Given the description of an element on the screen output the (x, y) to click on. 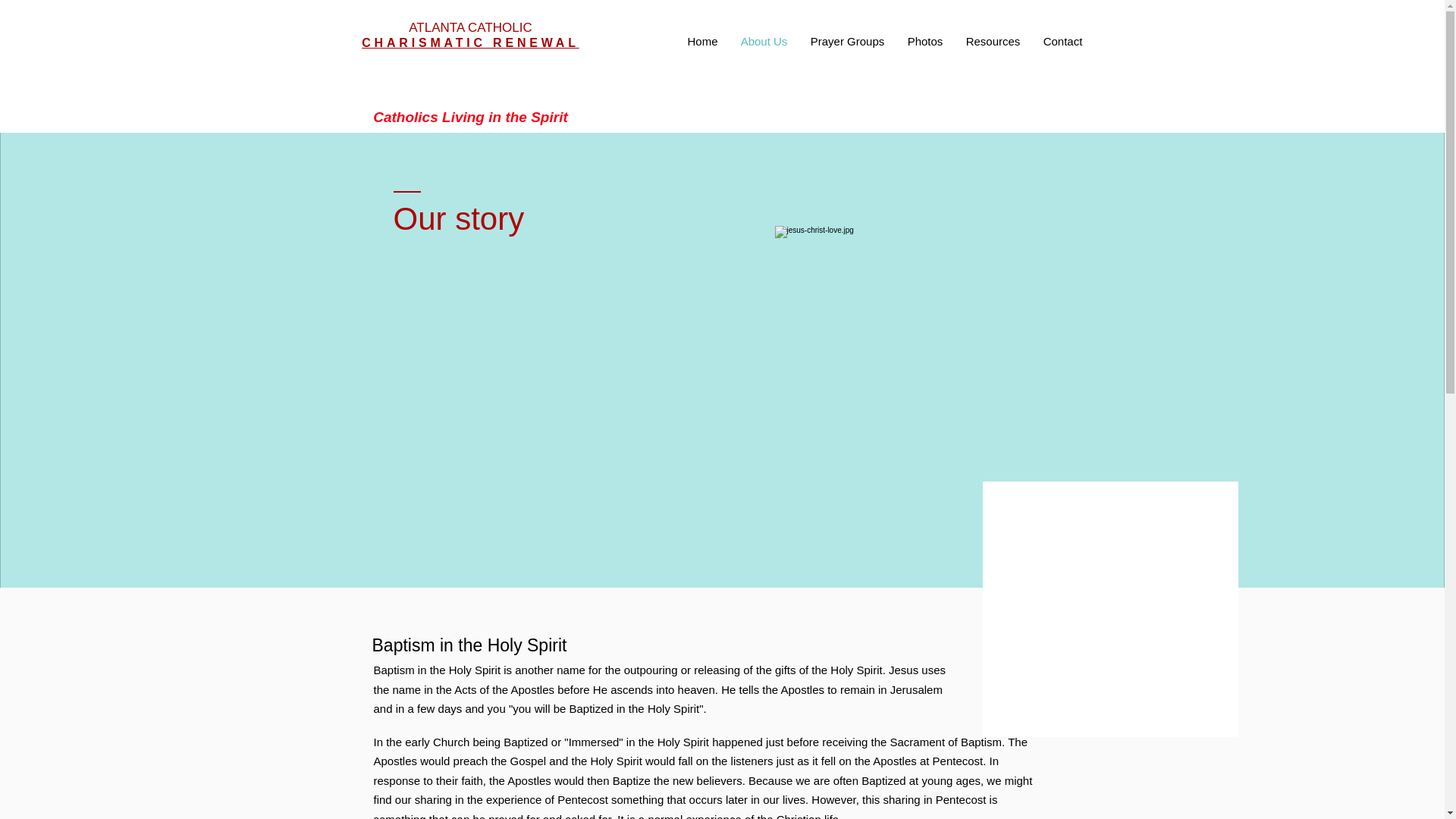
Resources (991, 40)
Prayer Groups (847, 40)
Home (703, 40)
About Us (764, 40)
CHARISMATIC RENEWAL (469, 42)
Photos (925, 40)
Contact (1061, 40)
ATLANTA CATHOLIC (470, 27)
